Given the description of an element on the screen output the (x, y) to click on. 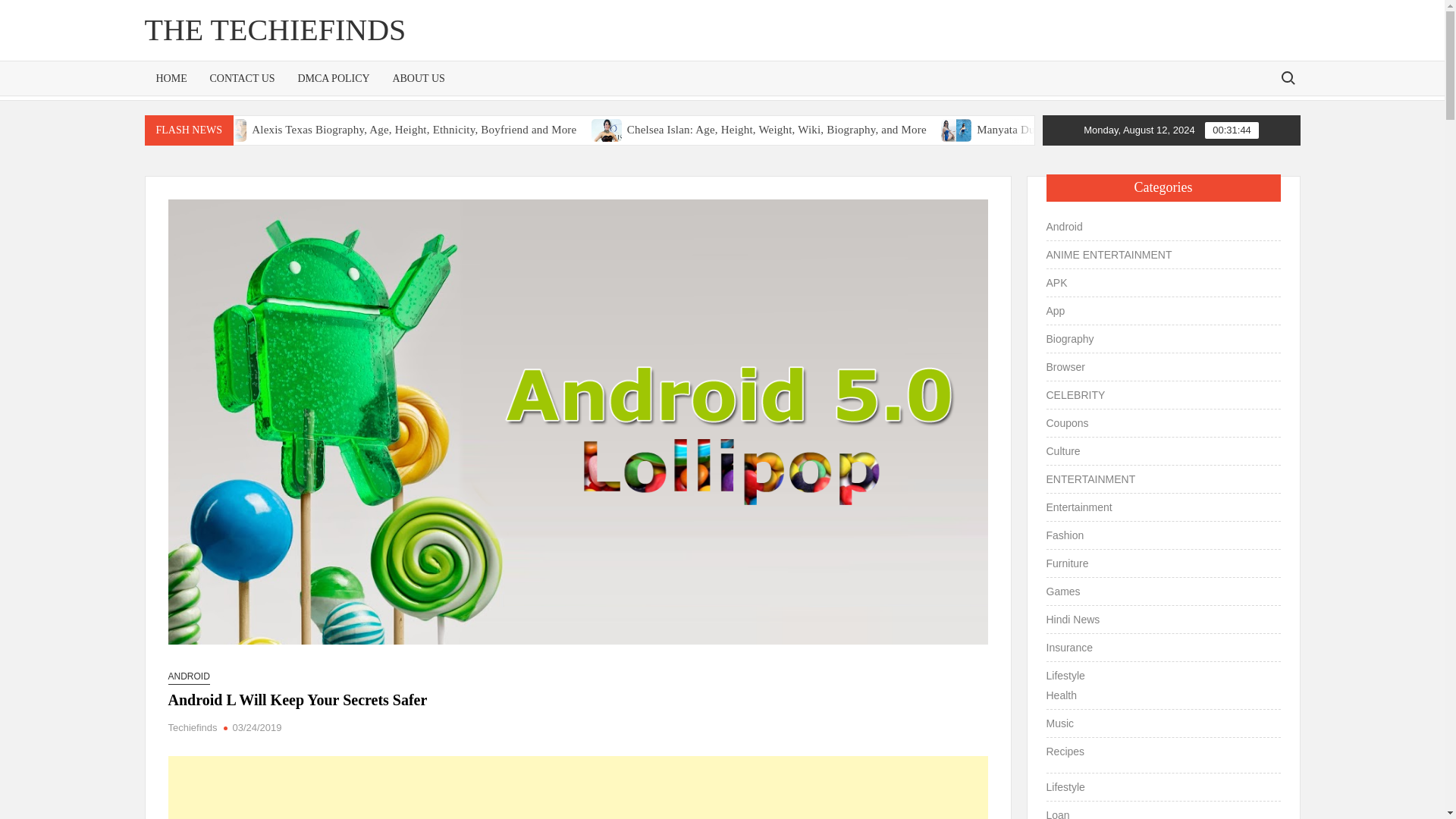
HOME (171, 78)
Custom Suits Brooklyn: Tailored Elegance in NYC (259, 129)
ABOUT US (417, 78)
Search for: (1287, 77)
DMCA POLICY (332, 78)
Custom Suits Brooklyn: Tailored Elegance in NYC (208, 129)
CONTACT US (241, 78)
